Given the description of an element on the screen output the (x, y) to click on. 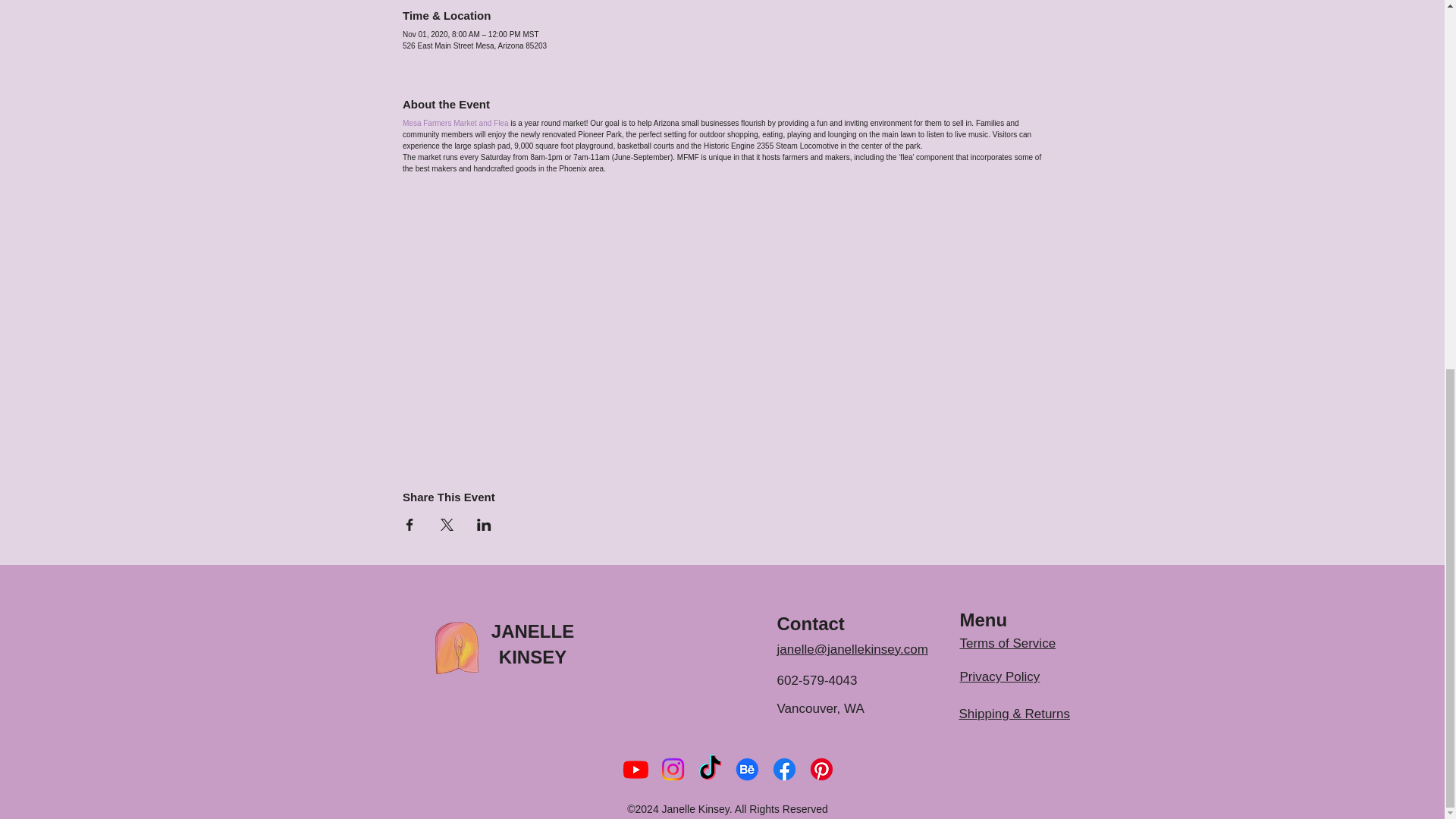
Mesa Farmers Market and Flea (455, 122)
